Given the description of an element on the screen output the (x, y) to click on. 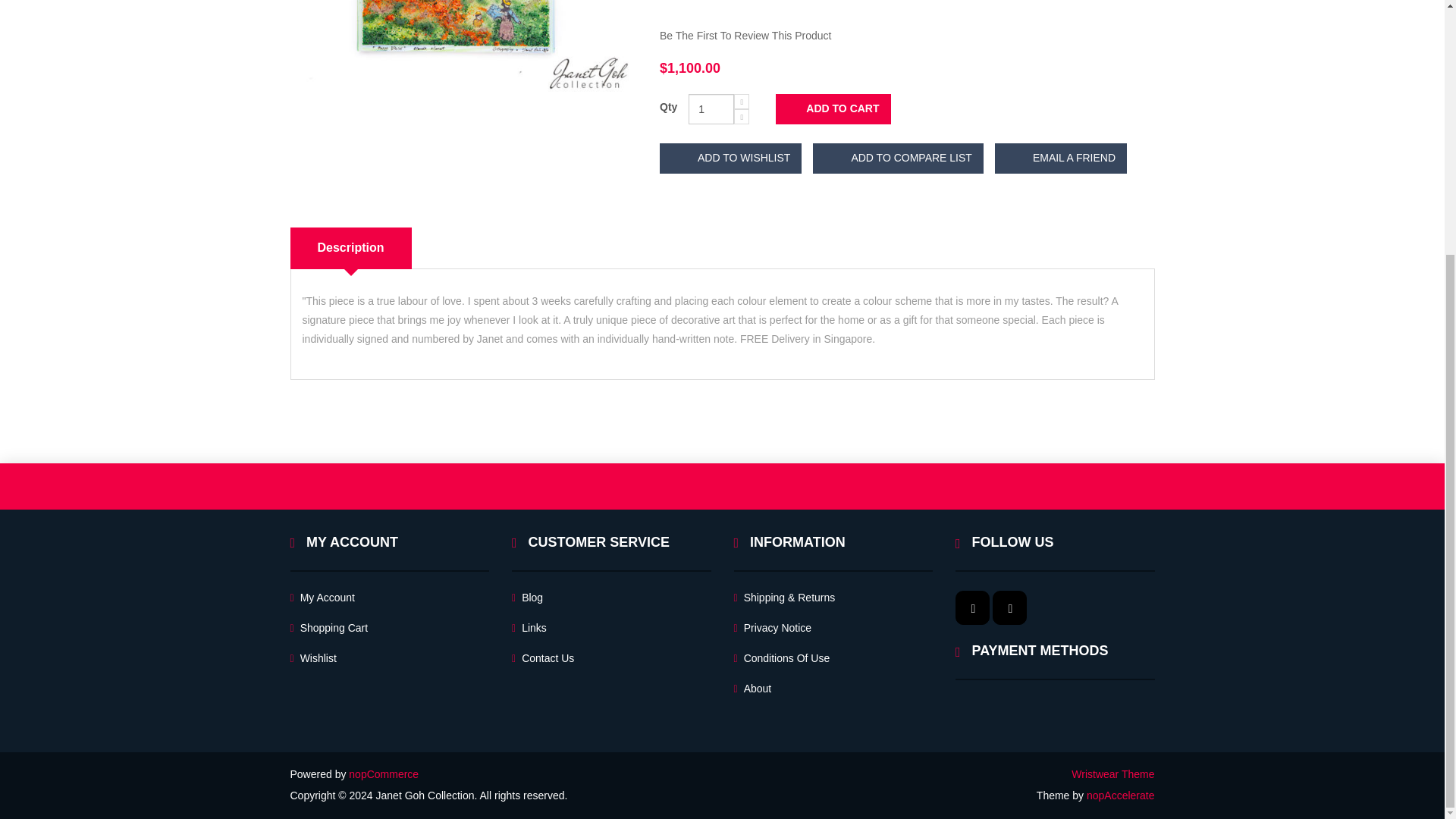
Contact Us (542, 658)
Picture of 18 inch x 14 inch - Fritography - Poppies (463, 45)
Add to compare list (897, 158)
Privacy Notice (772, 628)
Shopping Cart (328, 628)
Email a friend (1060, 158)
Add to cart (832, 109)
Responsive Wristwear Theme for nopCommerce (1112, 774)
Description (349, 248)
Add to wishlist (730, 158)
1 (710, 109)
My Account (322, 598)
Be The First To Review This Product (745, 35)
Wishlist (312, 658)
Blog (527, 598)
